Given the description of an element on the screen output the (x, y) to click on. 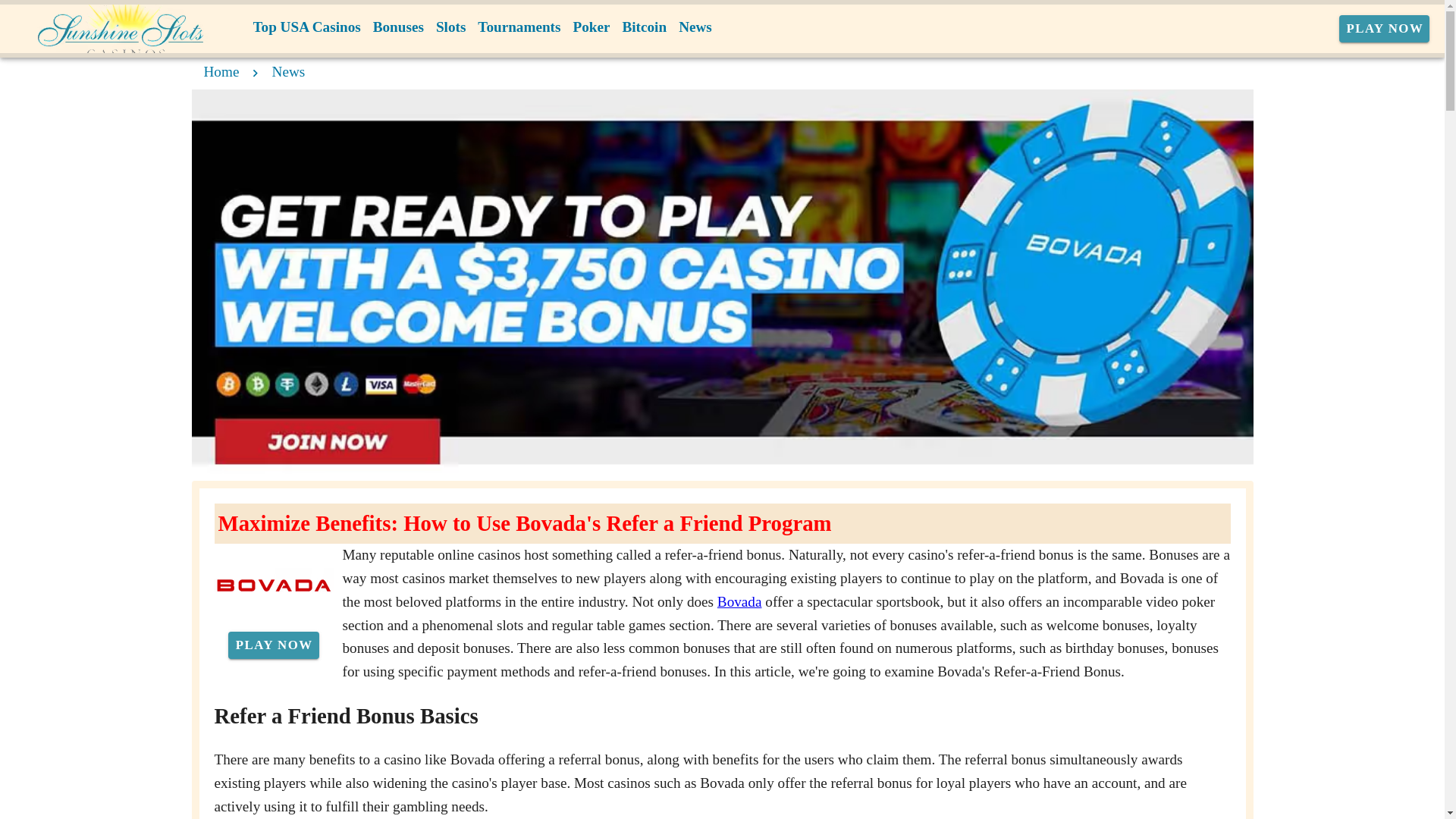
News (288, 71)
Slots (450, 27)
PLAY NOW (1384, 28)
Poker (590, 27)
Bovada (739, 601)
PLAY NOW (273, 645)
News (694, 27)
Home (220, 71)
Bonuses (397, 27)
Bitcoin (643, 27)
Top USA Casinos (306, 27)
Tournaments (518, 27)
